Given the description of an element on the screen output the (x, y) to click on. 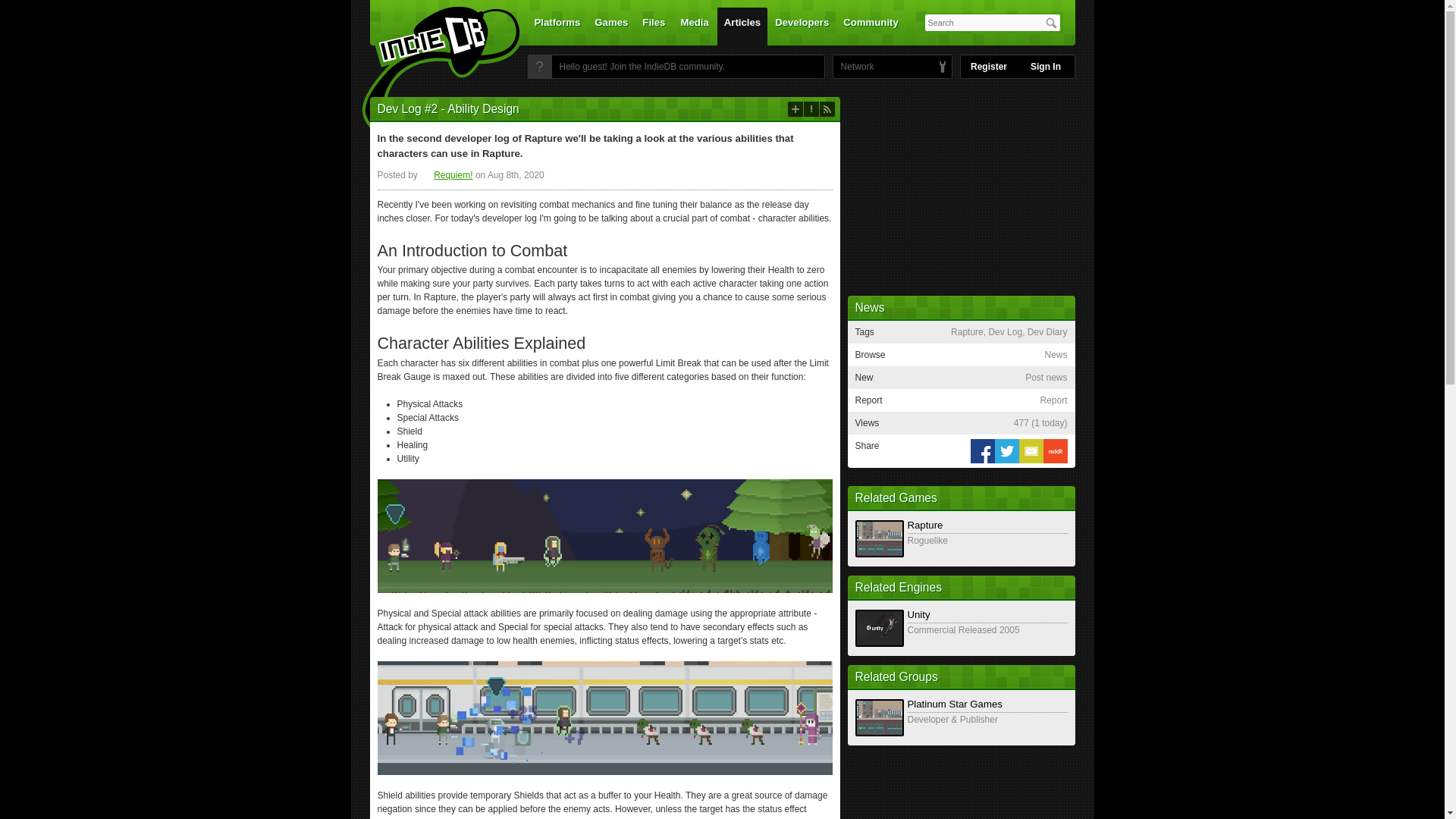
Post news (794, 109)
DBolical (852, 66)
RSS (826, 109)
Articles (742, 26)
Media (694, 26)
Developers (801, 26)
Search IndieDB (1050, 22)
Article Manager (445, 174)
Games (611, 26)
Join IndieDB (539, 66)
